Given the description of an element on the screen output the (x, y) to click on. 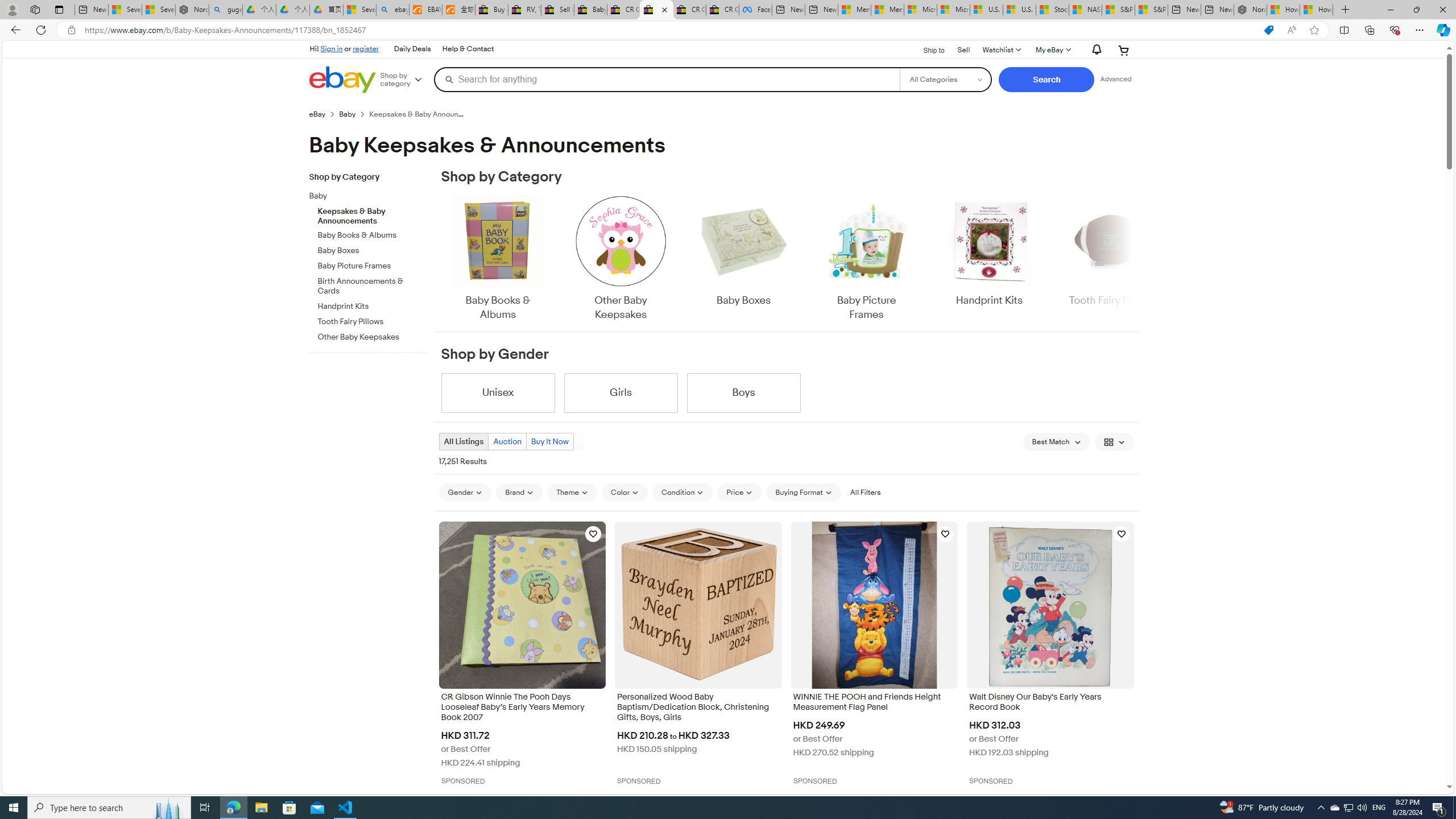
New Tab (1346, 9)
Daily Deals (411, 49)
Buy Auto Parts & Accessories | eBay (491, 9)
Baby Picture Frames (866, 258)
eBay (323, 113)
Advanced Search (1115, 78)
View site information (70, 29)
Price (739, 492)
Other Baby Keepsakes (620, 258)
Sell worldwide with eBay (557, 9)
Theme (572, 492)
Boys (742, 392)
All Listings (463, 441)
